Given the description of an element on the screen output the (x, y) to click on. 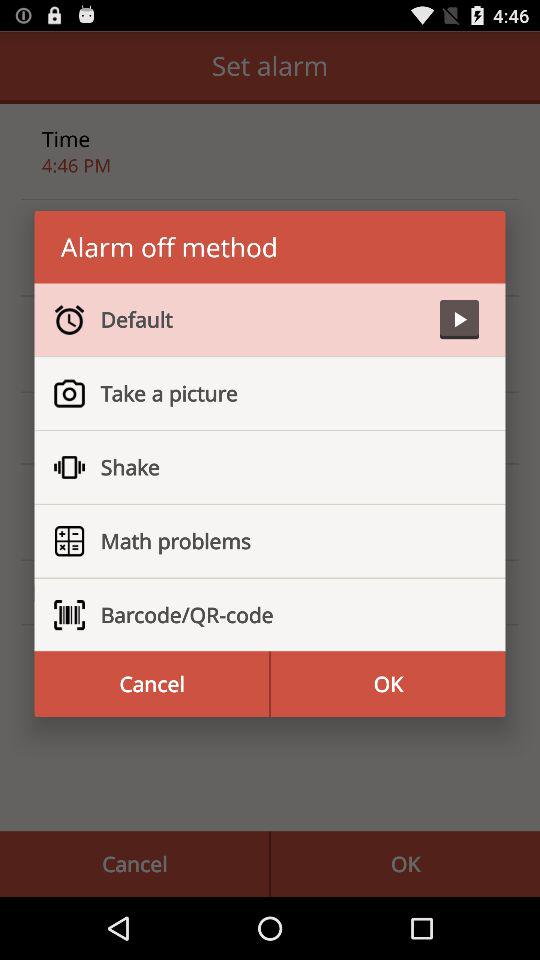
swipe to take a picture (281, 393)
